Given the description of an element on the screen output the (x, y) to click on. 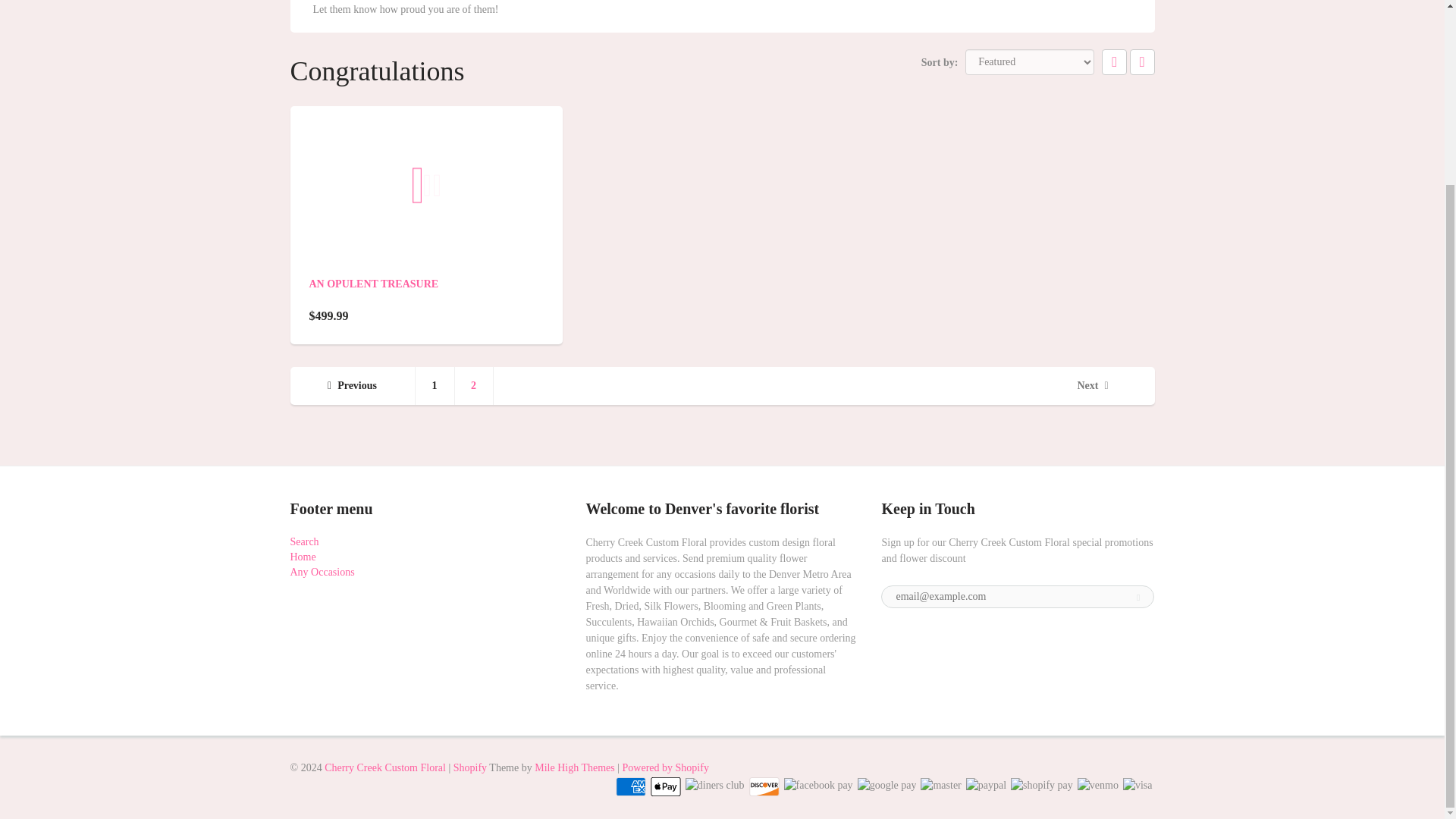
Grid view (1114, 62)
2 (473, 385)
1 (434, 385)
List View (1141, 62)
Search (303, 541)
AN OPULENT TREASURE (373, 283)
Previous (351, 385)
Any Occasions (321, 572)
Next (1092, 385)
Home (302, 556)
